Given the description of an element on the screen output the (x, y) to click on. 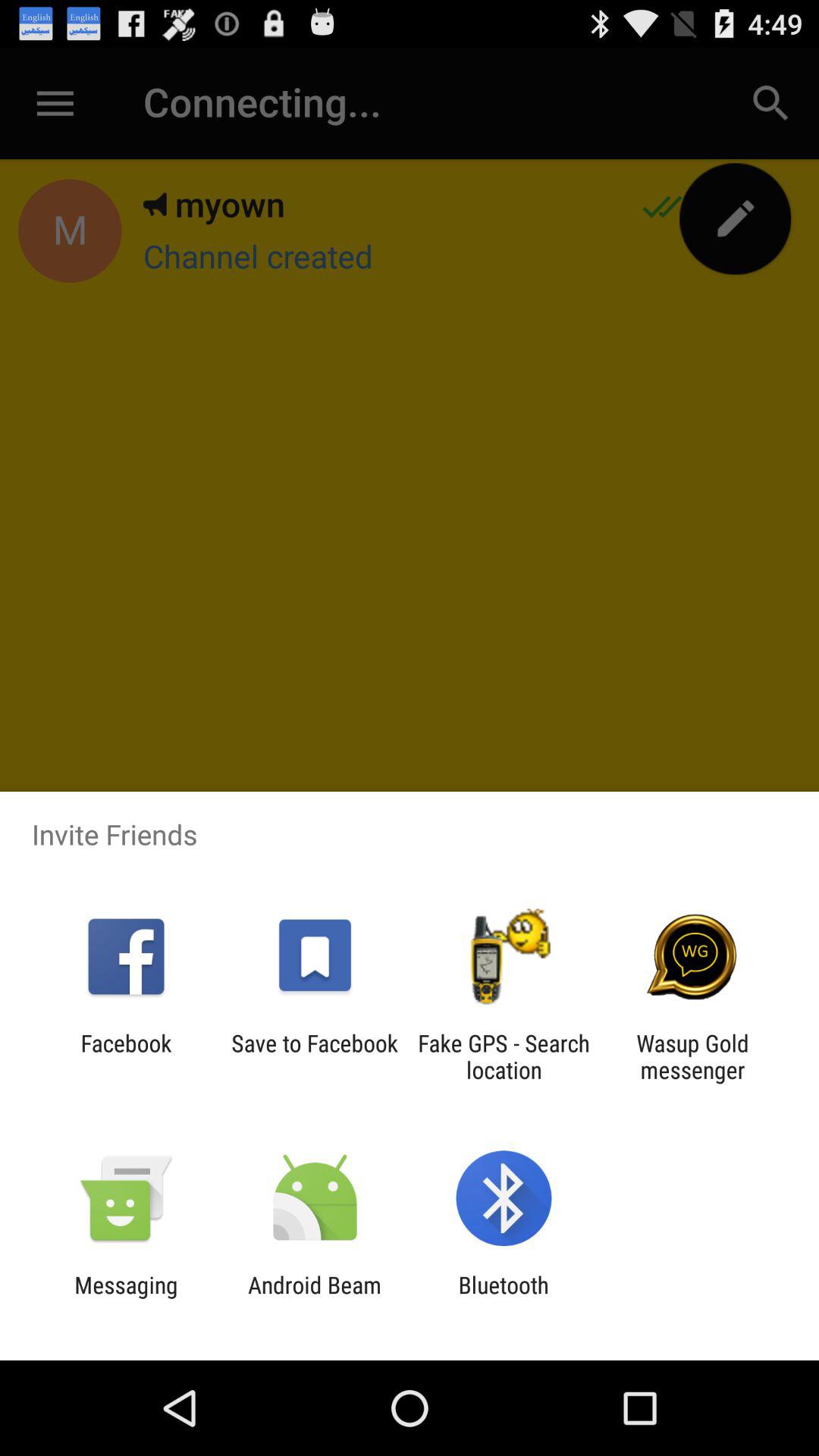
turn on the app to the left of the bluetooth icon (314, 1298)
